Given the description of an element on the screen output the (x, y) to click on. 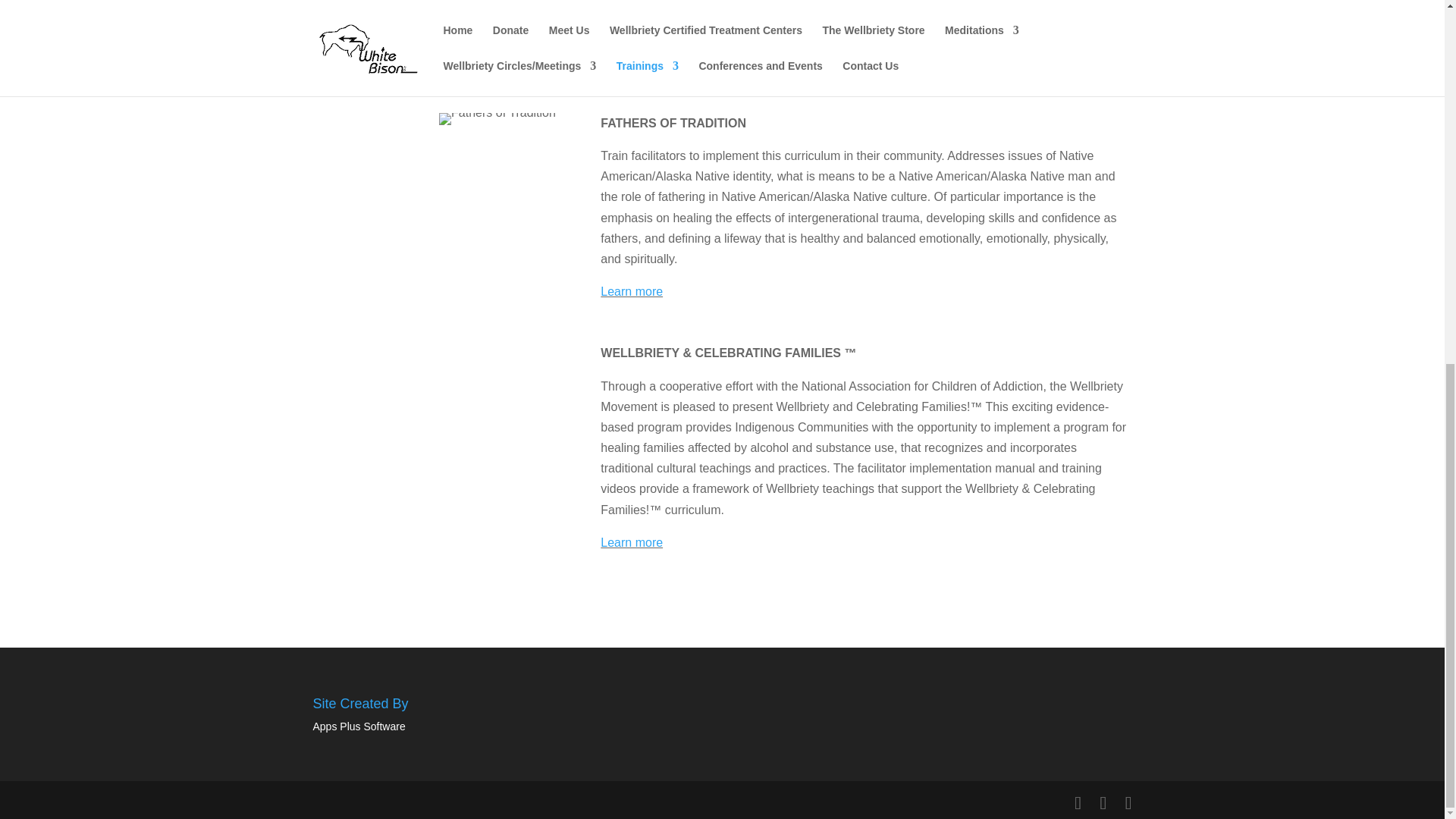
MOT Logo (433, 36)
WCF new logo 1.4.24 (433, 464)
Fathers of Tradition Logo-No Background (497, 119)
